Given the description of an element on the screen output the (x, y) to click on. 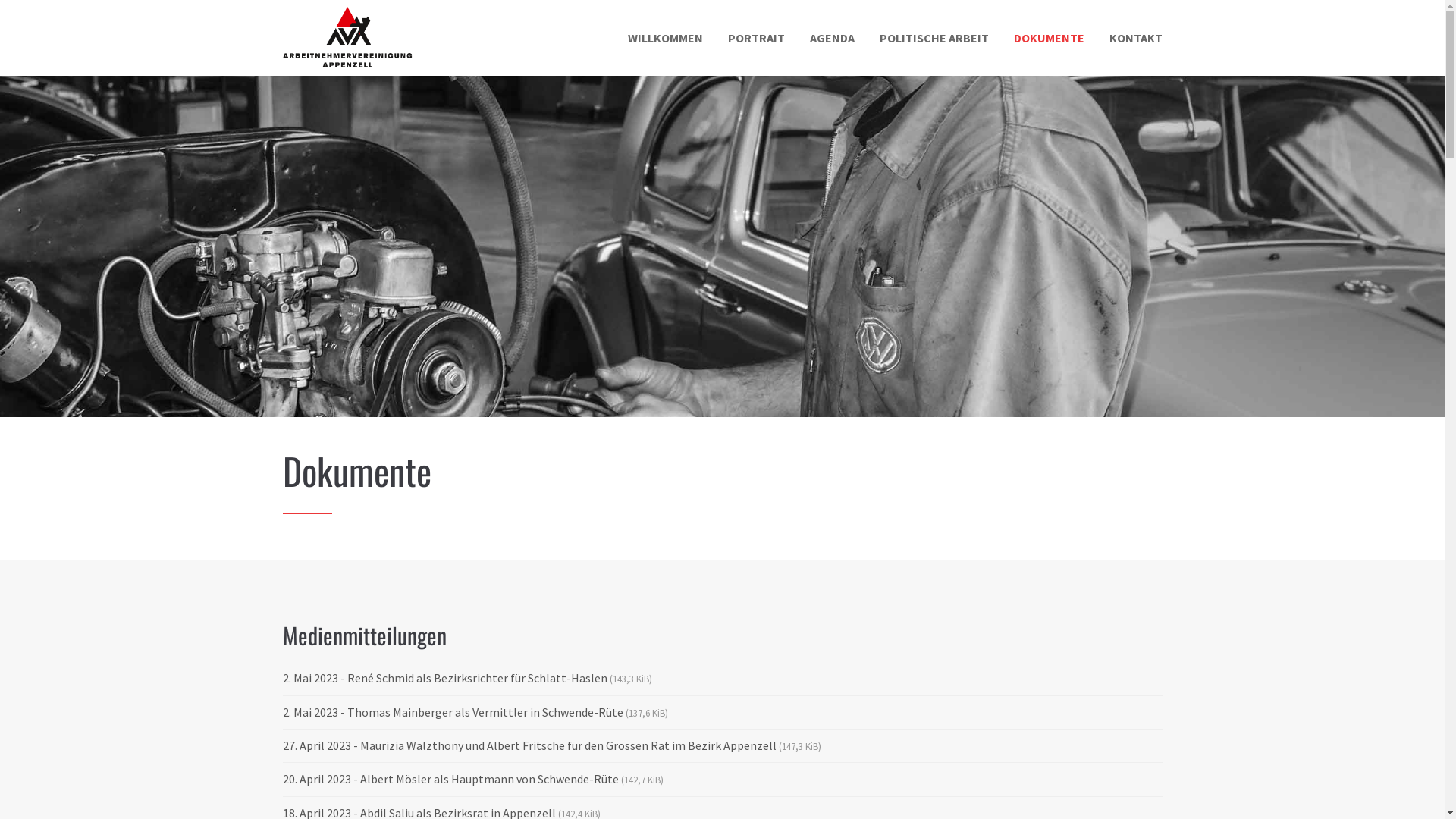
AGENDA Element type: text (831, 37)
PORTRAIT Element type: text (756, 37)
WILLKOMMEN Element type: text (664, 37)
DOKUMENTE Element type: text (1048, 37)
KONTAKT Element type: text (1134, 37)
POLITISCHE ARBEIT Element type: text (933, 37)
